Given the description of an element on the screen output the (x, y) to click on. 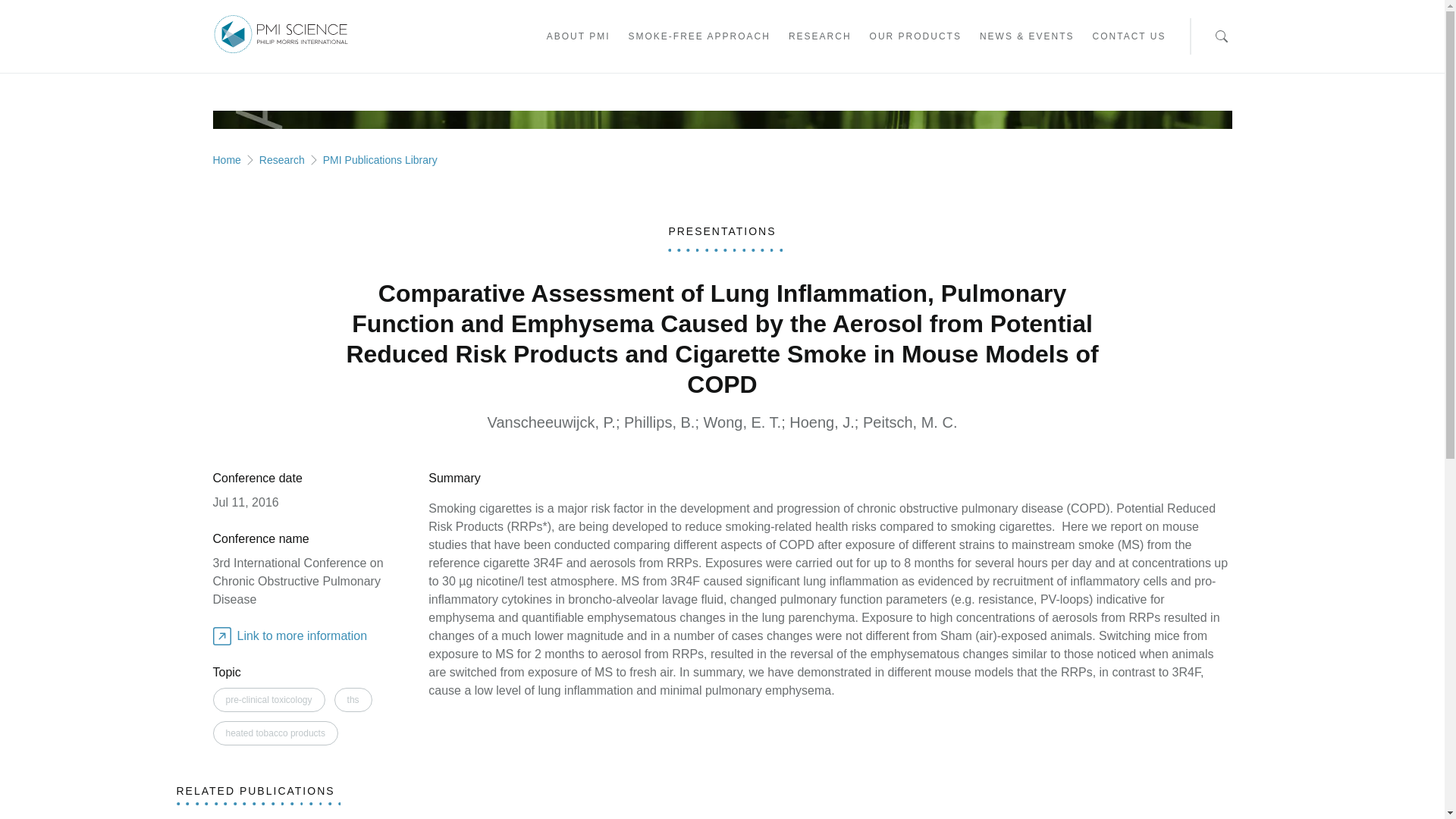
OUR PRODUCTS (914, 38)
RESEARCH (820, 38)
PMI SCIENCE HOME (279, 34)
SMOKE-FREE APPROACH (698, 38)
ABOUT PMI (578, 38)
